Given the description of an element on the screen output the (x, y) to click on. 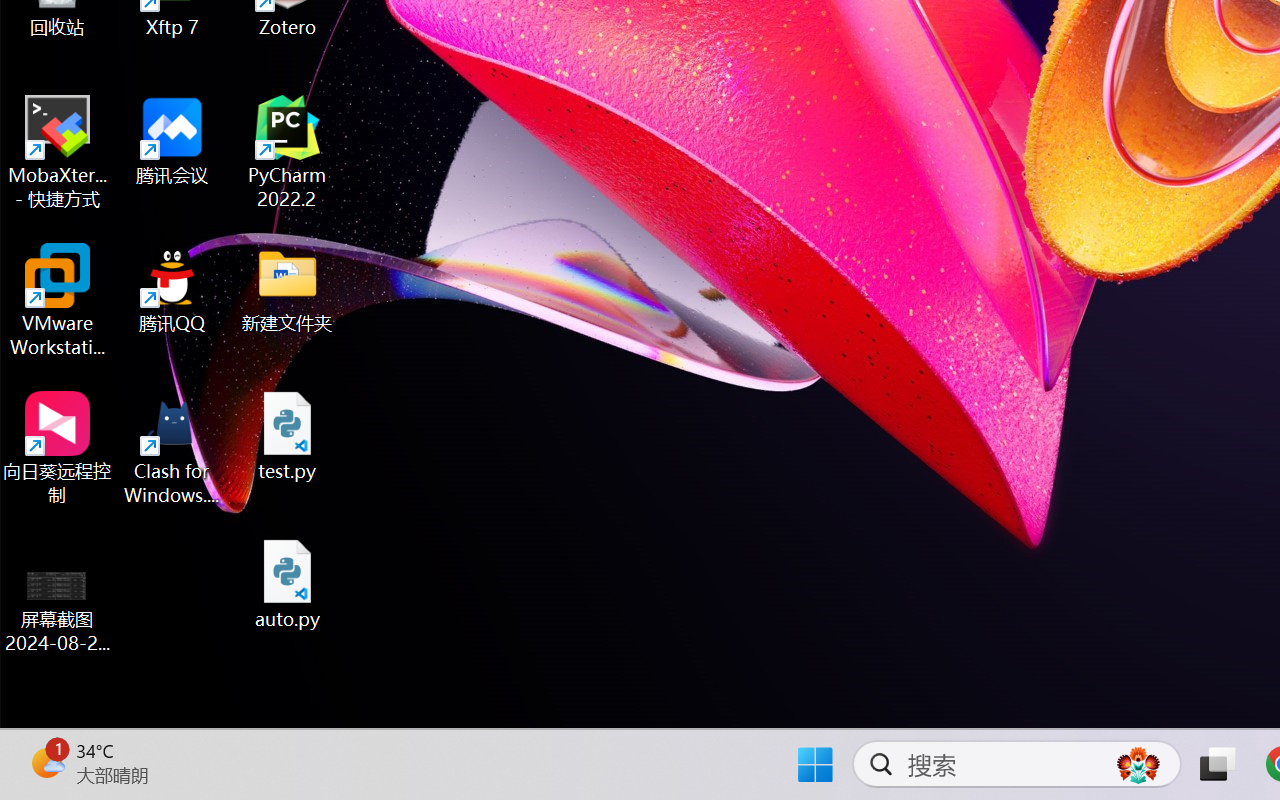
PyCharm 2022.2 (287, 152)
auto.py (287, 584)
VMware Workstation Pro (57, 300)
test.py (287, 436)
